Given the description of an element on the screen output the (x, y) to click on. 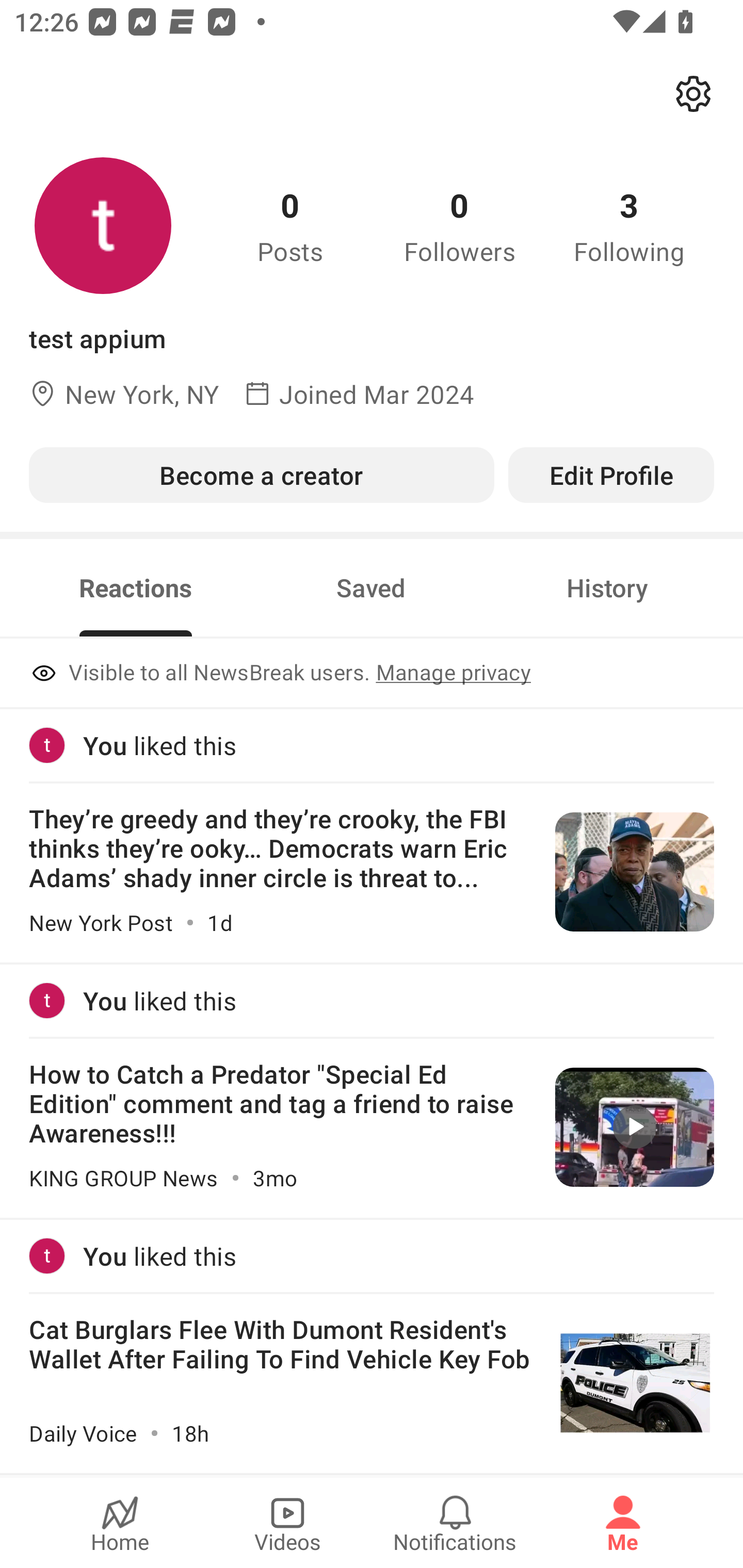
0 Followers (459, 225)
3 Following (629, 225)
Become a creator (261, 474)
Edit Profile (611, 474)
Saved (370, 587)
History (606, 587)
Visible to all NewsBreak users.  Manage privacy (371, 673)
Home (119, 1522)
Videos (287, 1522)
Notifications (455, 1522)
